Given the description of an element on the screen output the (x, y) to click on. 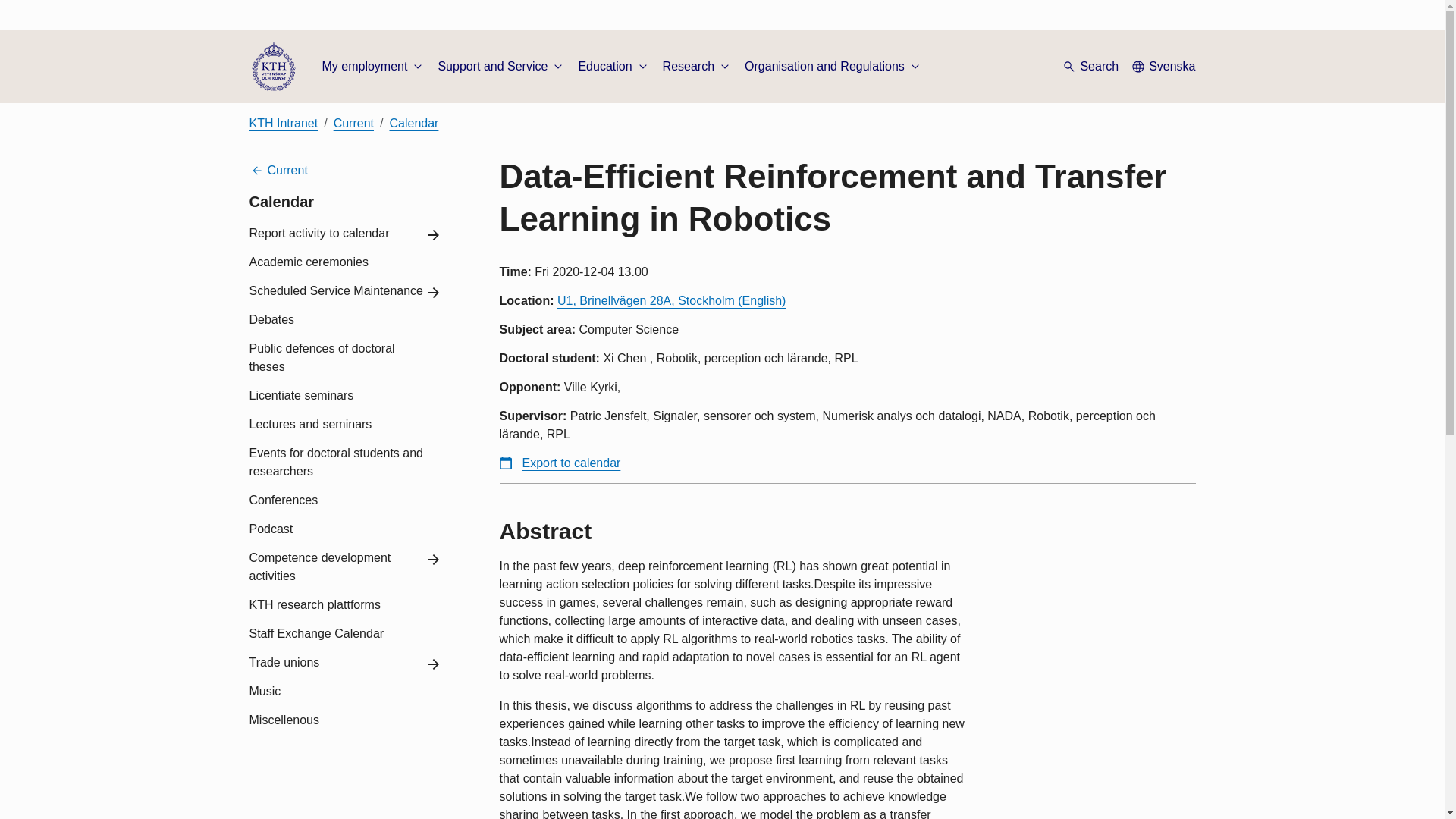
My employment (373, 66)
Organisation and Regulations (833, 66)
Research (697, 66)
Education (613, 66)
Support and Service (502, 66)
